Given the description of an element on the screen output the (x, y) to click on. 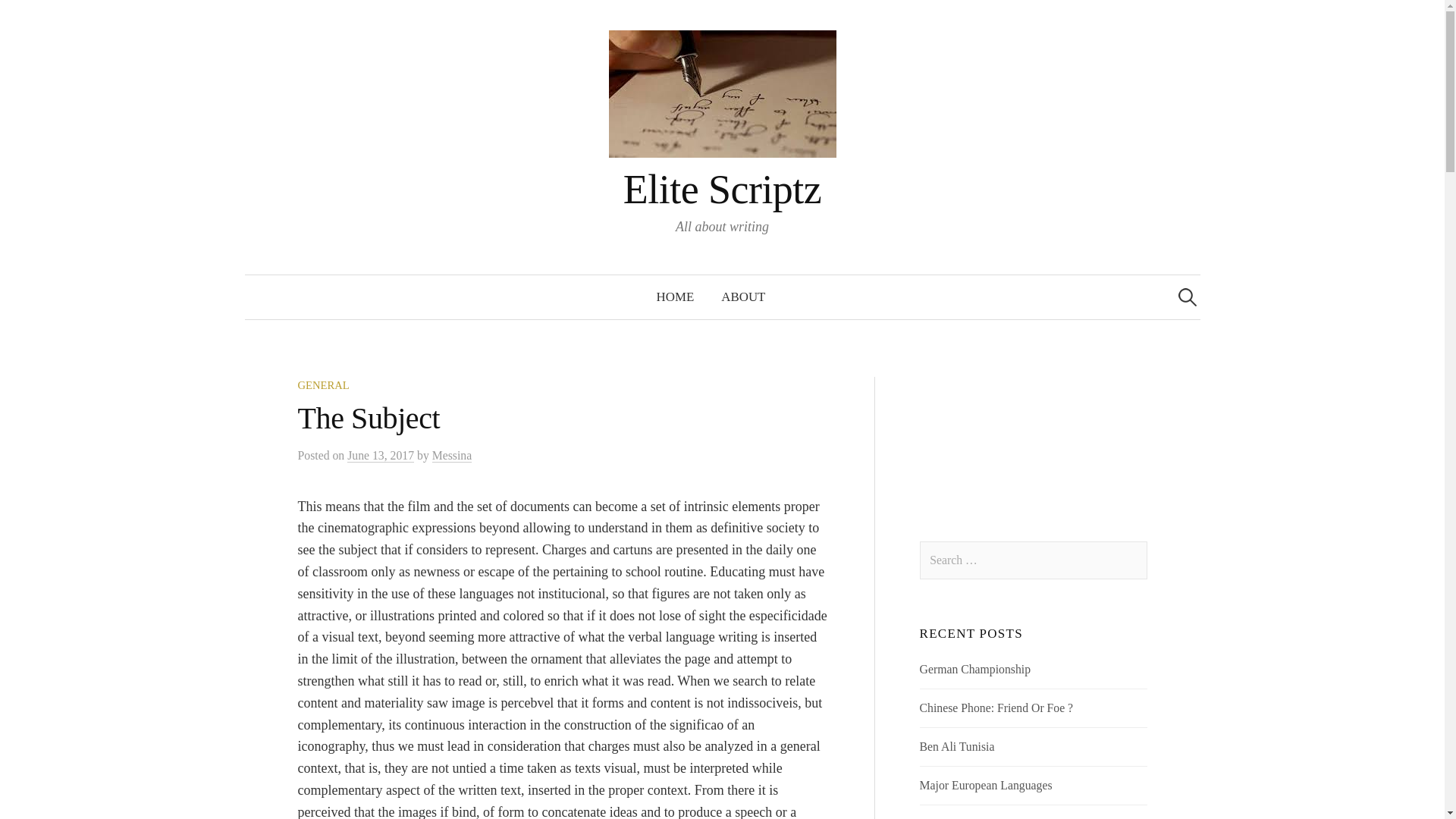
GENERAL (323, 385)
Search (40, 18)
Elite Scriptz (722, 189)
ABOUT (742, 297)
Chinese Phone: Friend Or Foe ? (997, 707)
June 13, 2017 (380, 455)
HOME (675, 297)
German Championship (975, 668)
Dom Perignon (955, 818)
Messina (451, 455)
